Given the description of an element on the screen output the (x, y) to click on. 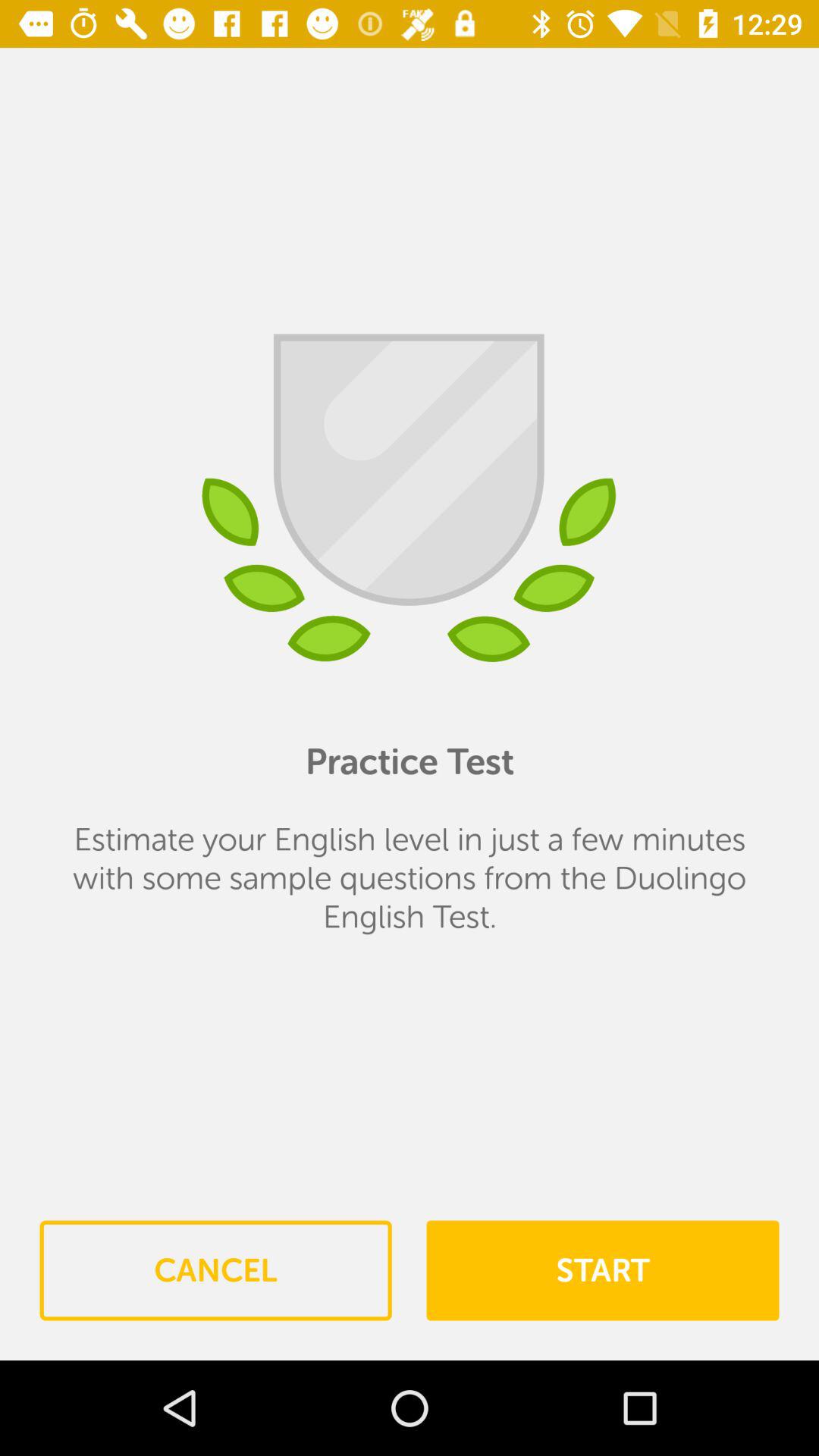
jump to cancel icon (215, 1270)
